Given the description of an element on the screen output the (x, y) to click on. 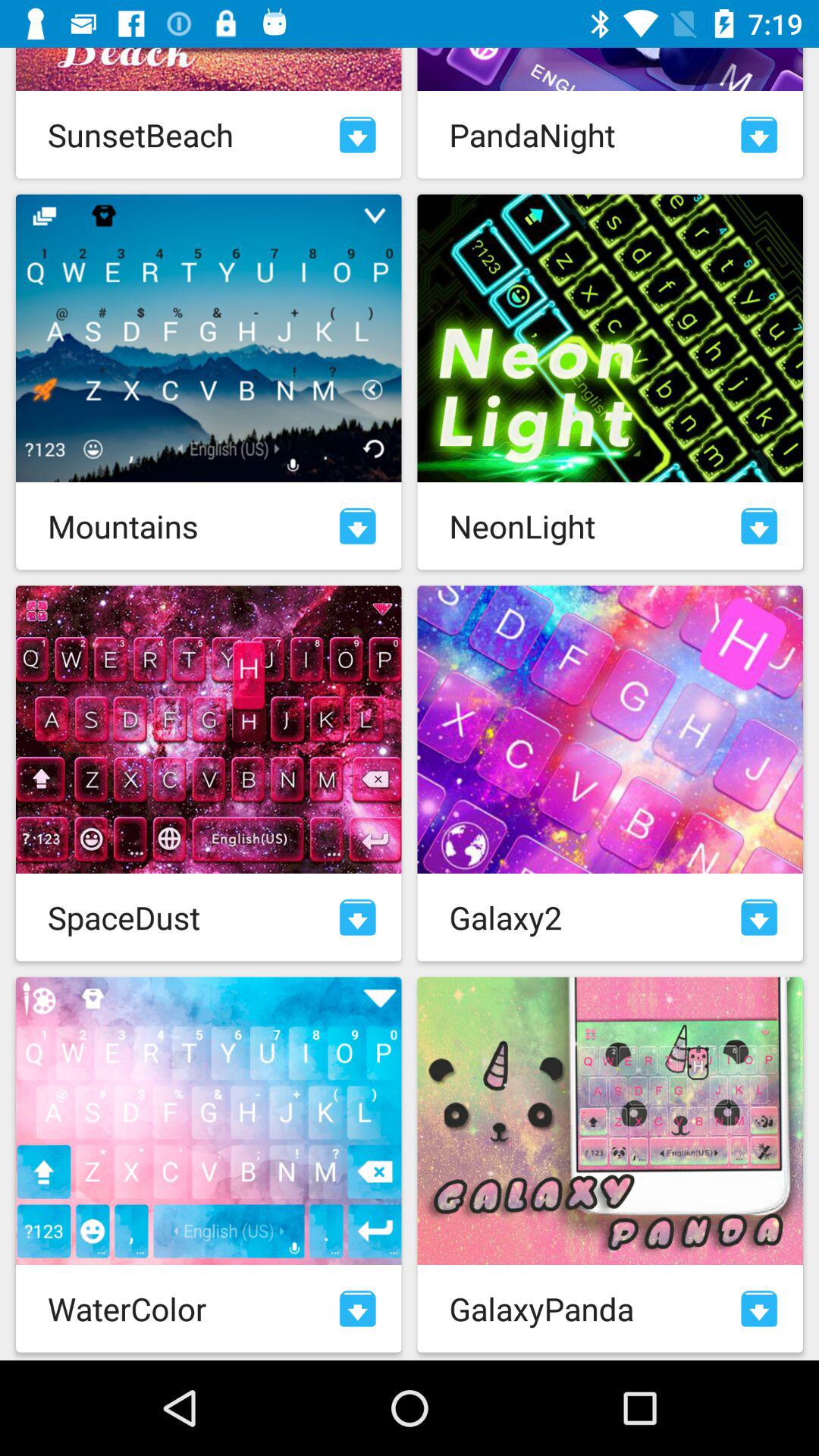
open tab (357, 917)
